Given the description of an element on the screen output the (x, y) to click on. 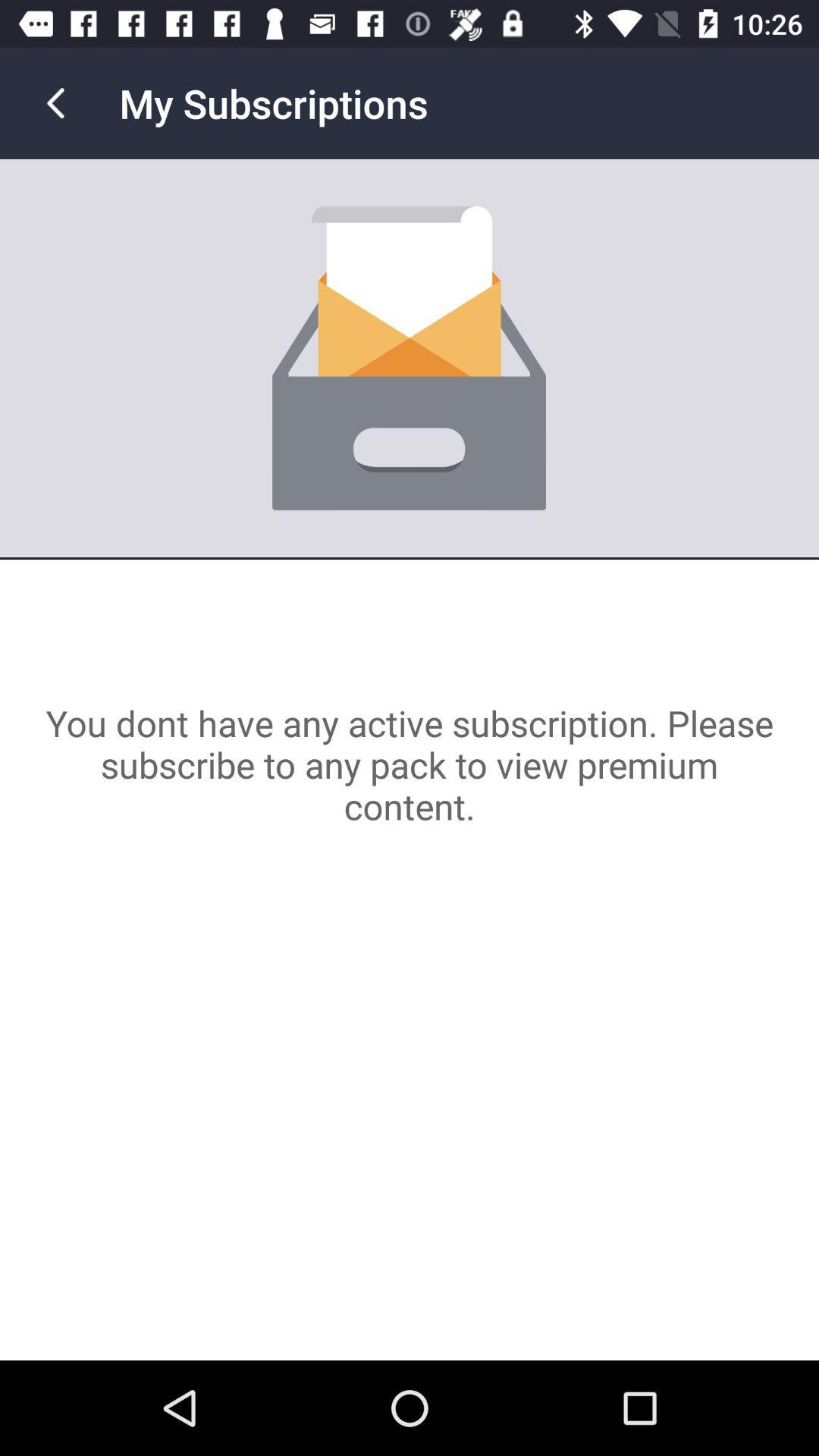
click app next to my subscriptions item (55, 103)
